Given the description of an element on the screen output the (x, y) to click on. 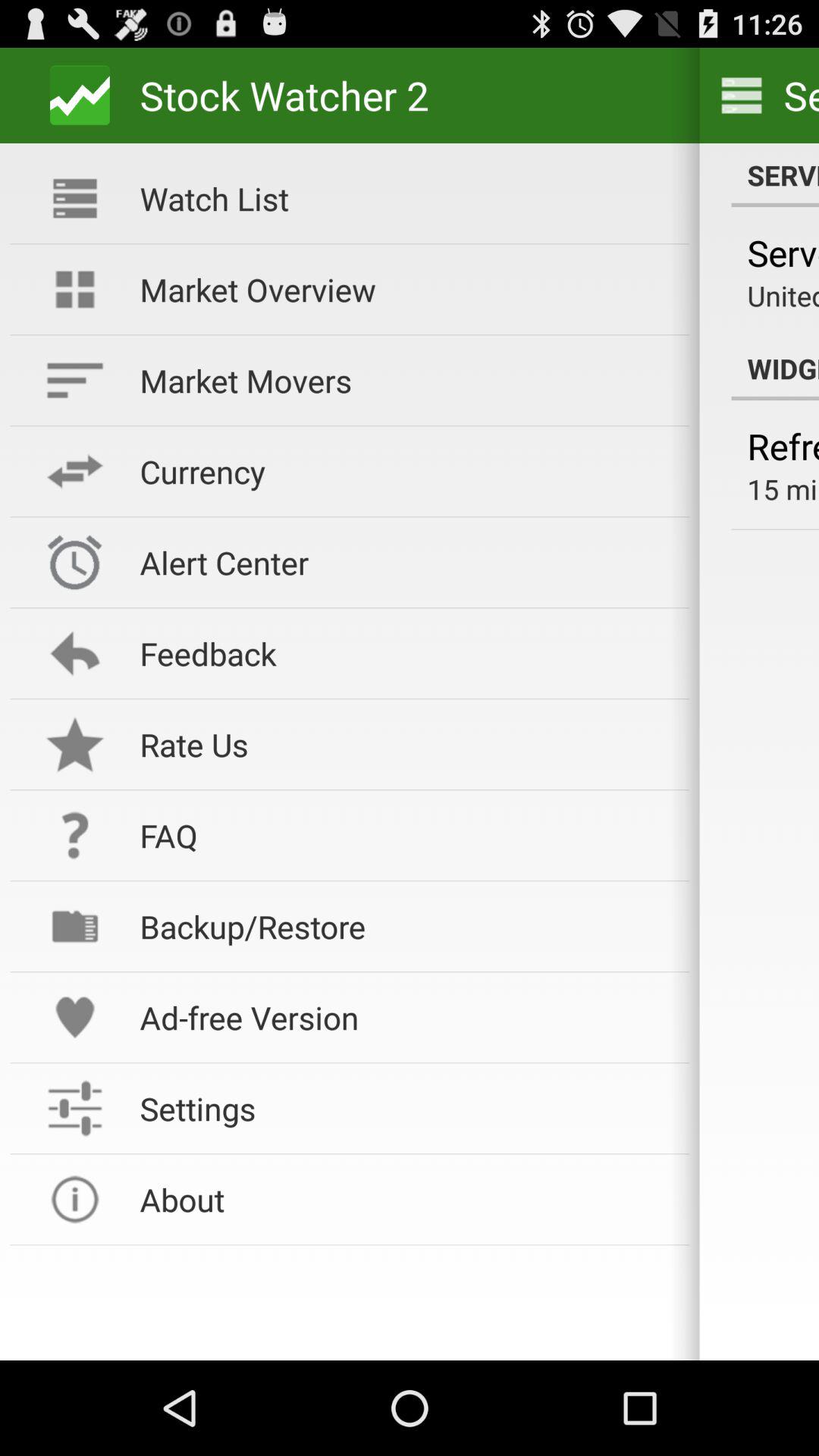
open the app above refresh rate icon (775, 368)
